Given the description of an element on the screen output the (x, y) to click on. 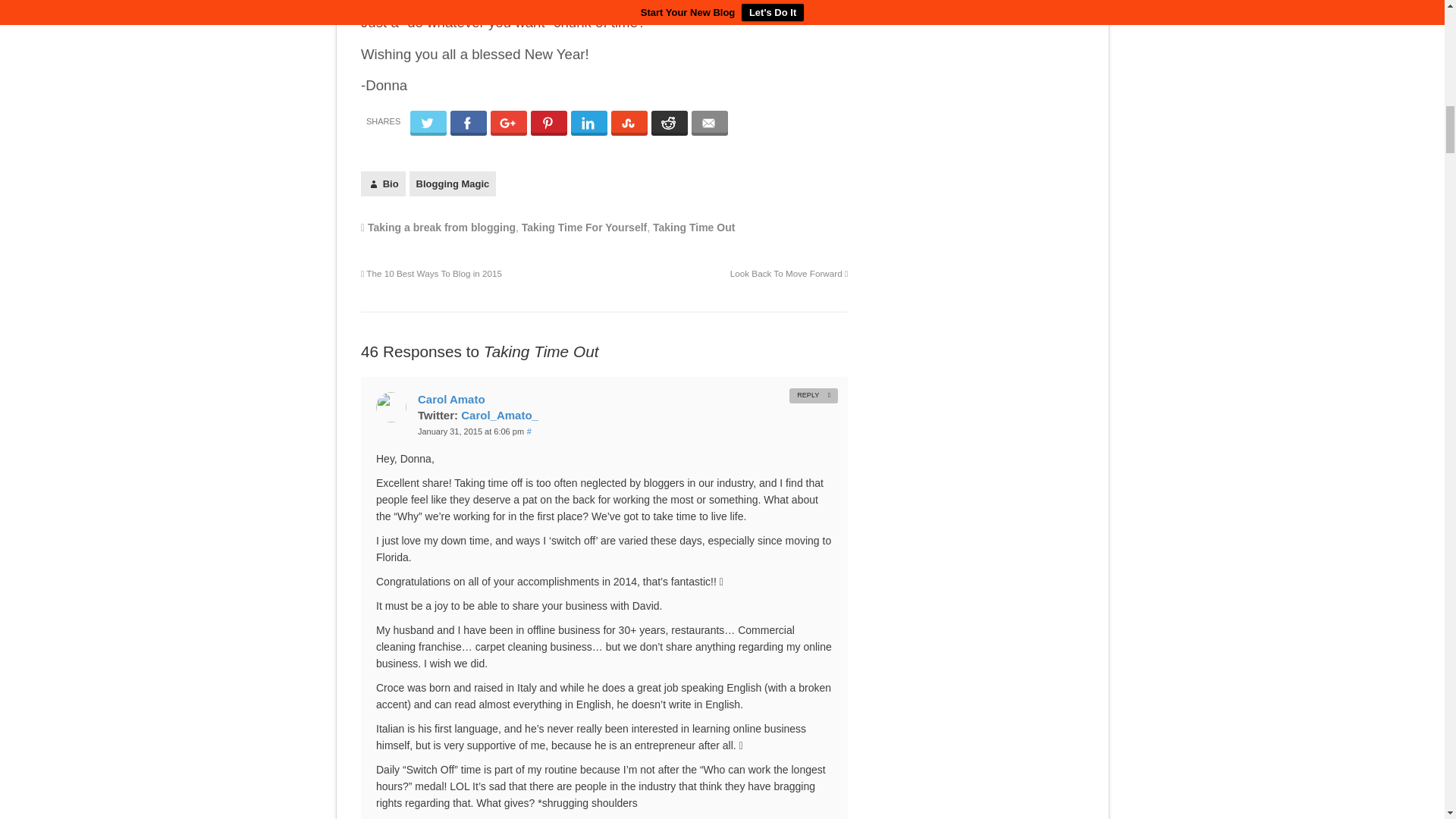
Blogging Magic (452, 183)
Bio (383, 183)
Taking a break from blogging (441, 227)
